Given the description of an element on the screen output the (x, y) to click on. 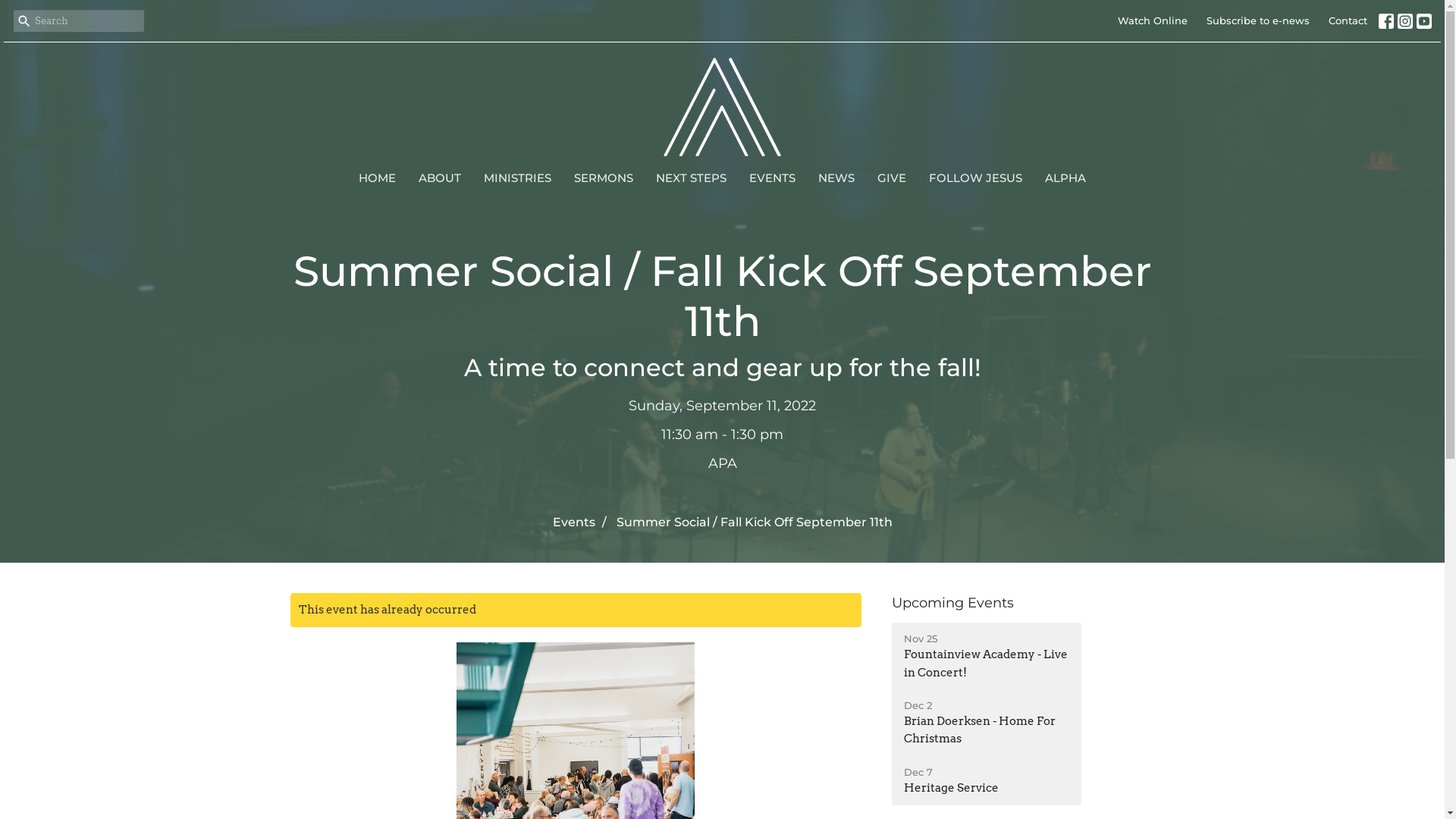
Dec 2
Brian Doerksen - Home For Christmas Element type: text (986, 722)
NEWS Element type: text (836, 177)
HOME Element type: text (376, 177)
Events Element type: text (573, 521)
SERMONS Element type: text (603, 177)
Upcoming Events Element type: text (952, 602)
Watch Online Element type: text (1152, 20)
EVENTS Element type: text (772, 177)
GIVE Element type: text (891, 177)
Subscribe to e-news Element type: text (1257, 20)
ABOUT Element type: text (439, 177)
Contact Element type: text (1347, 20)
MINISTRIES Element type: text (517, 177)
Nov 25
Fountainview Academy - Live in Concert! Element type: text (986, 656)
NEXT STEPS Element type: text (690, 177)
ALPHA Element type: text (1064, 177)
FOLLOW JESUS Element type: text (975, 177)
Dec 7
Heritage Service Element type: text (986, 780)
